Given the description of an element on the screen output the (x, y) to click on. 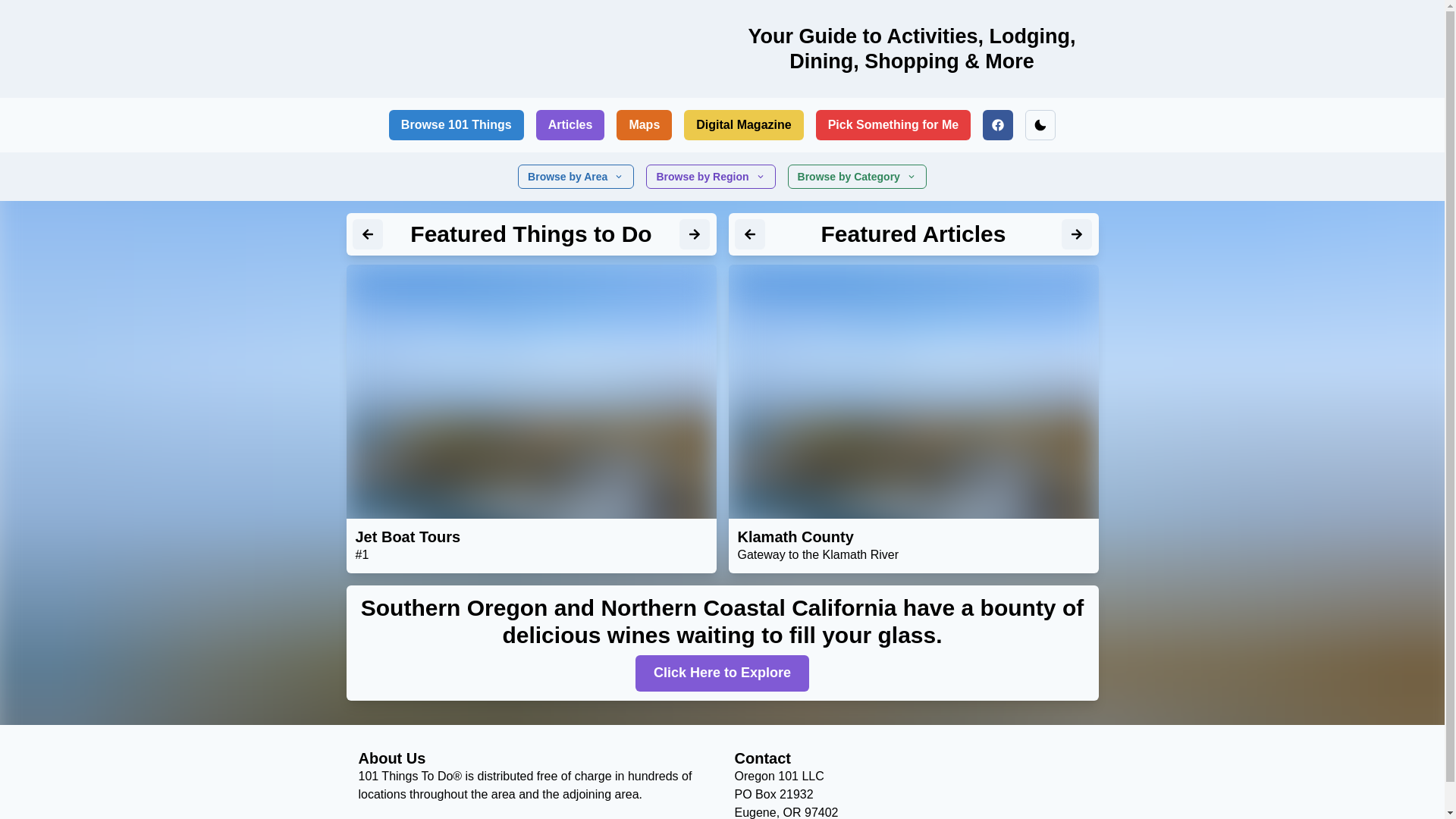
Browse by Area Element type: text (575, 176)
Browse by Region Element type: text (710, 176)
Click Here to Explore Element type: text (722, 673)
Browse 101 Things Element type: text (456, 124)
Browse by Category Element type: text (856, 176)
Pick Something for Me Element type: text (892, 124)
Articles Element type: text (570, 124)
Maps Element type: text (643, 124)
Digital Magazine Element type: text (743, 124)
